Given the description of an element on the screen output the (x, y) to click on. 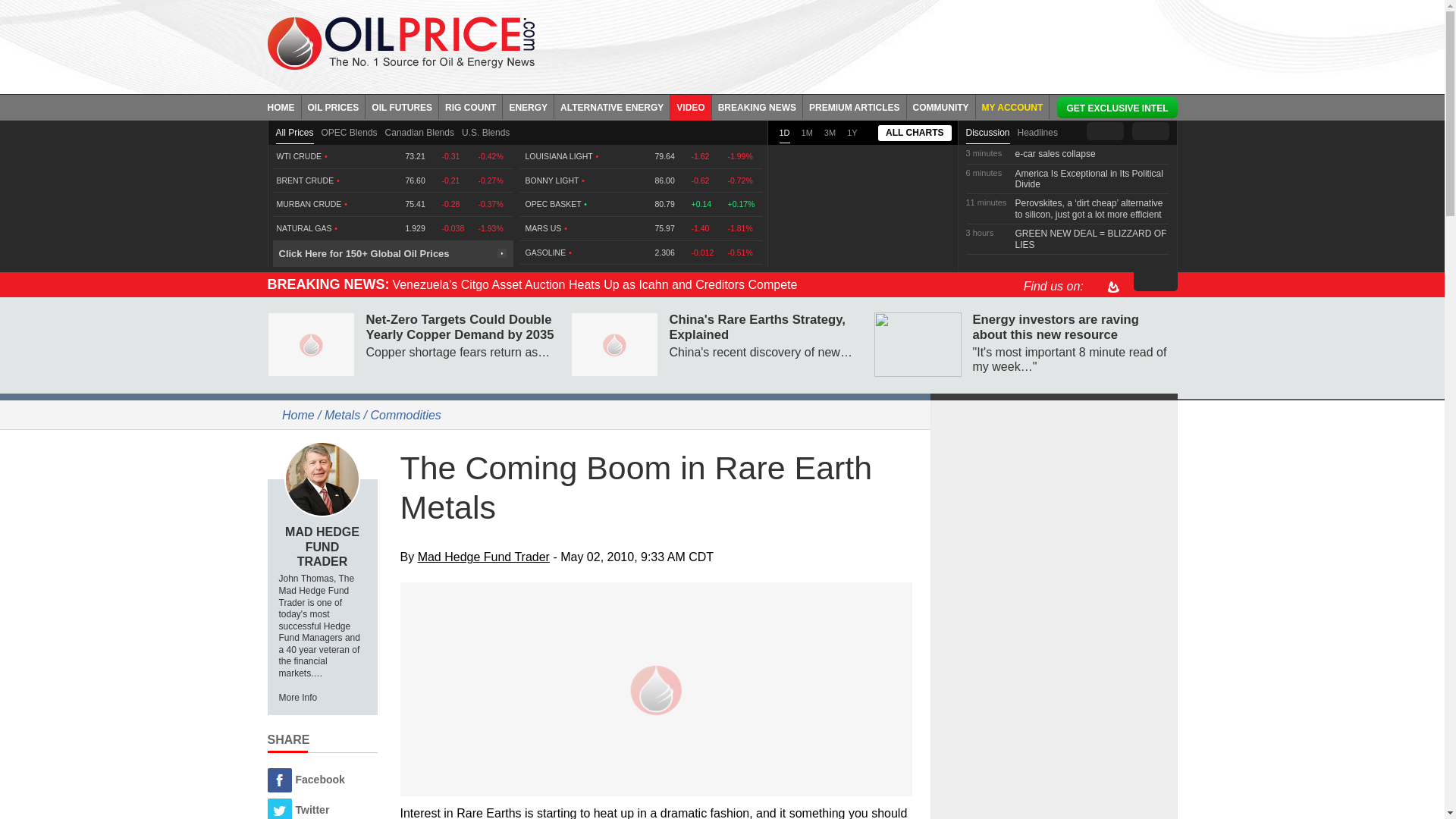
OIL FUTURES (402, 106)
PREMIUM ARTICLES (855, 106)
BREAKING NEWS (757, 106)
Mad Hedge Fund Trader (321, 478)
RIG COUNT (470, 106)
COMMUNITY (941, 106)
Oil prices - Oilprice.com (400, 42)
ALTERNATIVE ENERGY (611, 106)
OIL PRICES (333, 106)
MY ACCOUNT (1012, 106)
HOME (283, 106)
VIDEO (690, 106)
ENERGY (528, 106)
